Given the description of an element on the screen output the (x, y) to click on. 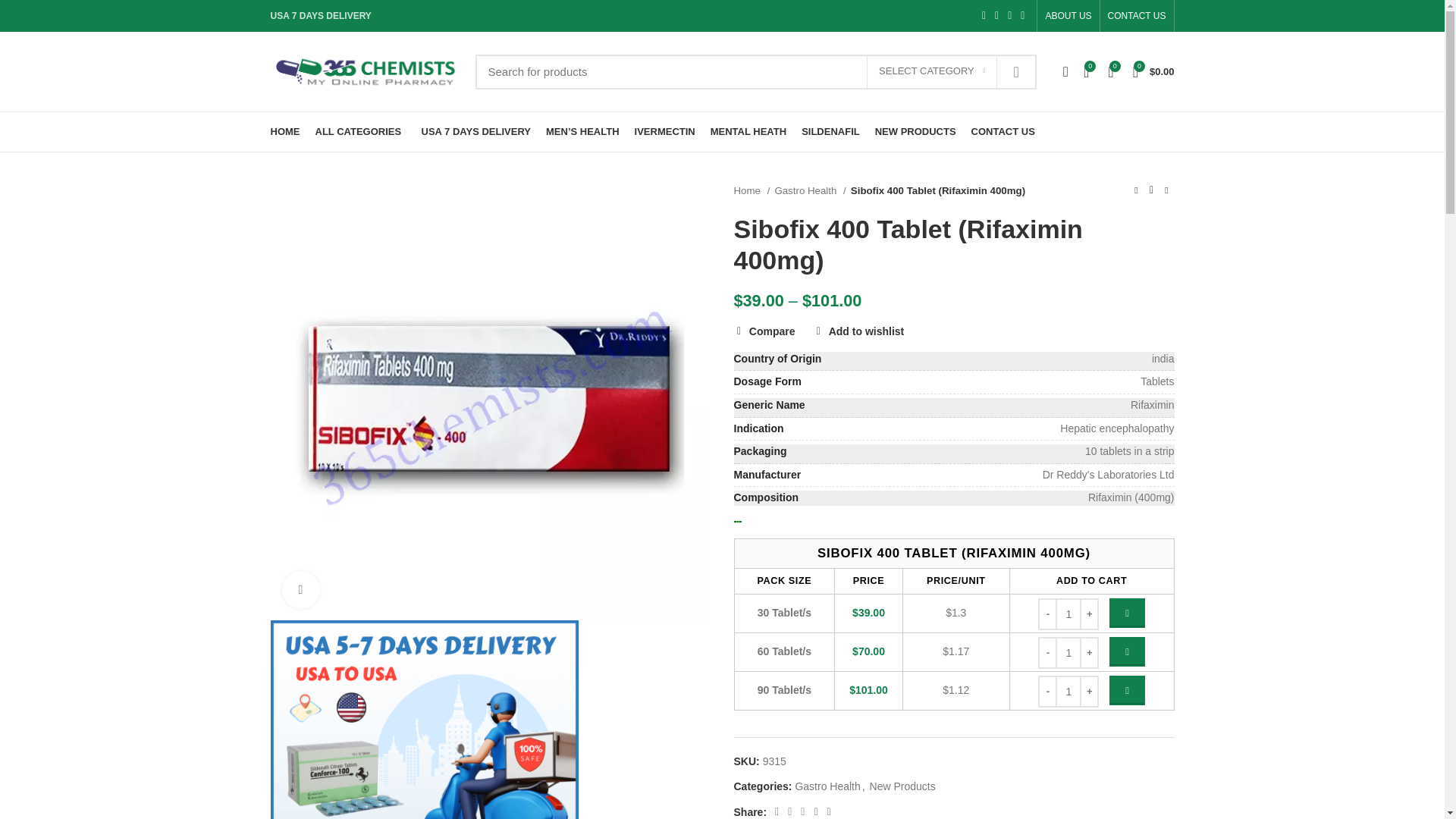
Shopping cart (1153, 71)
CONTACT US (1136, 15)
SELECT CATEGORY (931, 71)
SELECT CATEGORY (931, 71)
Search for products (755, 71)
ABOUT US (1067, 15)
